Given the description of an element on the screen output the (x, y) to click on. 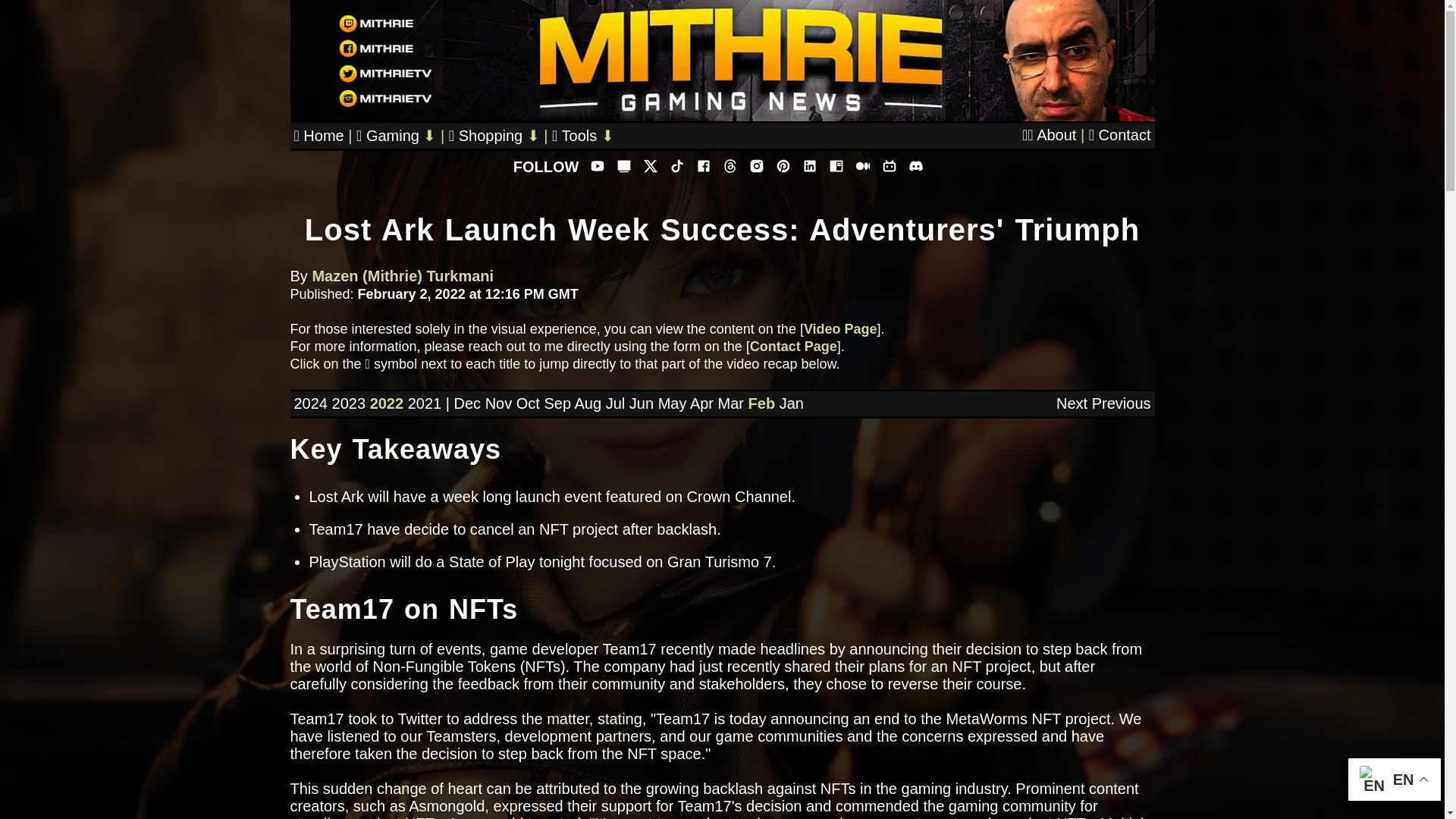
Contact Page (793, 346)
Video Page (840, 328)
2023 (348, 402)
2021 (424, 402)
Dec (466, 402)
2024 (311, 402)
